Given the description of an element on the screen output the (x, y) to click on. 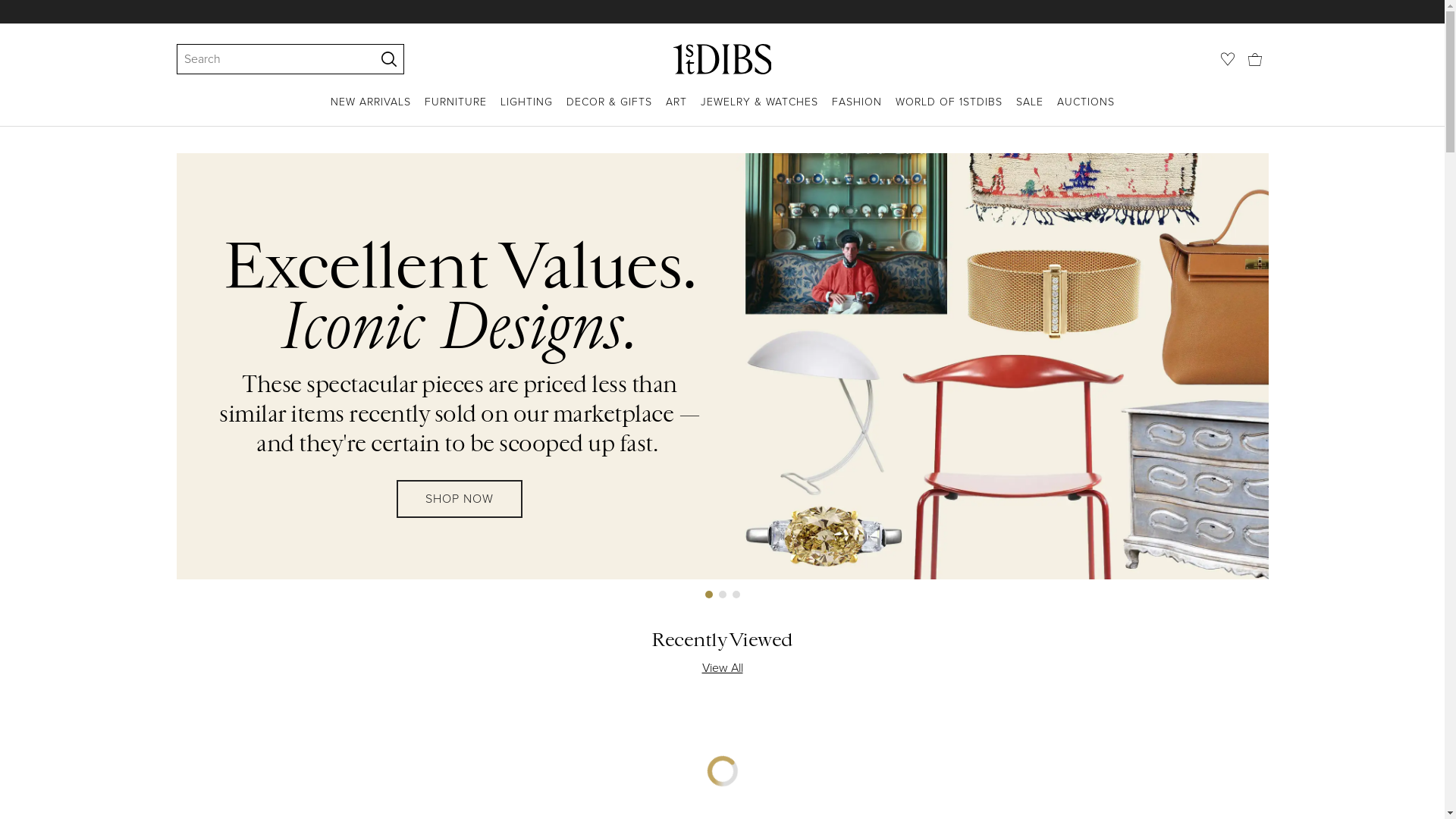
SKIP TO MAIN CONTENT Element type: text (6, 6)
WORLD OF 1STDIBS Element type: text (947, 109)
ART Element type: text (676, 109)
NEW ARRIVALS Element type: text (370, 109)
View All Element type: text (722, 667)
JEWELRY & WATCHES Element type: text (759, 109)
FURNITURE Element type: text (455, 109)
FASHION Element type: text (856, 109)
SALE Element type: text (1029, 109)
AUCTIONS Element type: text (1085, 109)
LIGHTING Element type: text (526, 109)
DECOR & GIFTS Element type: text (608, 109)
SHOP NOW Element type: text (459, 498)
Search Element type: hover (268, 58)
